Given the description of an element on the screen output the (x, y) to click on. 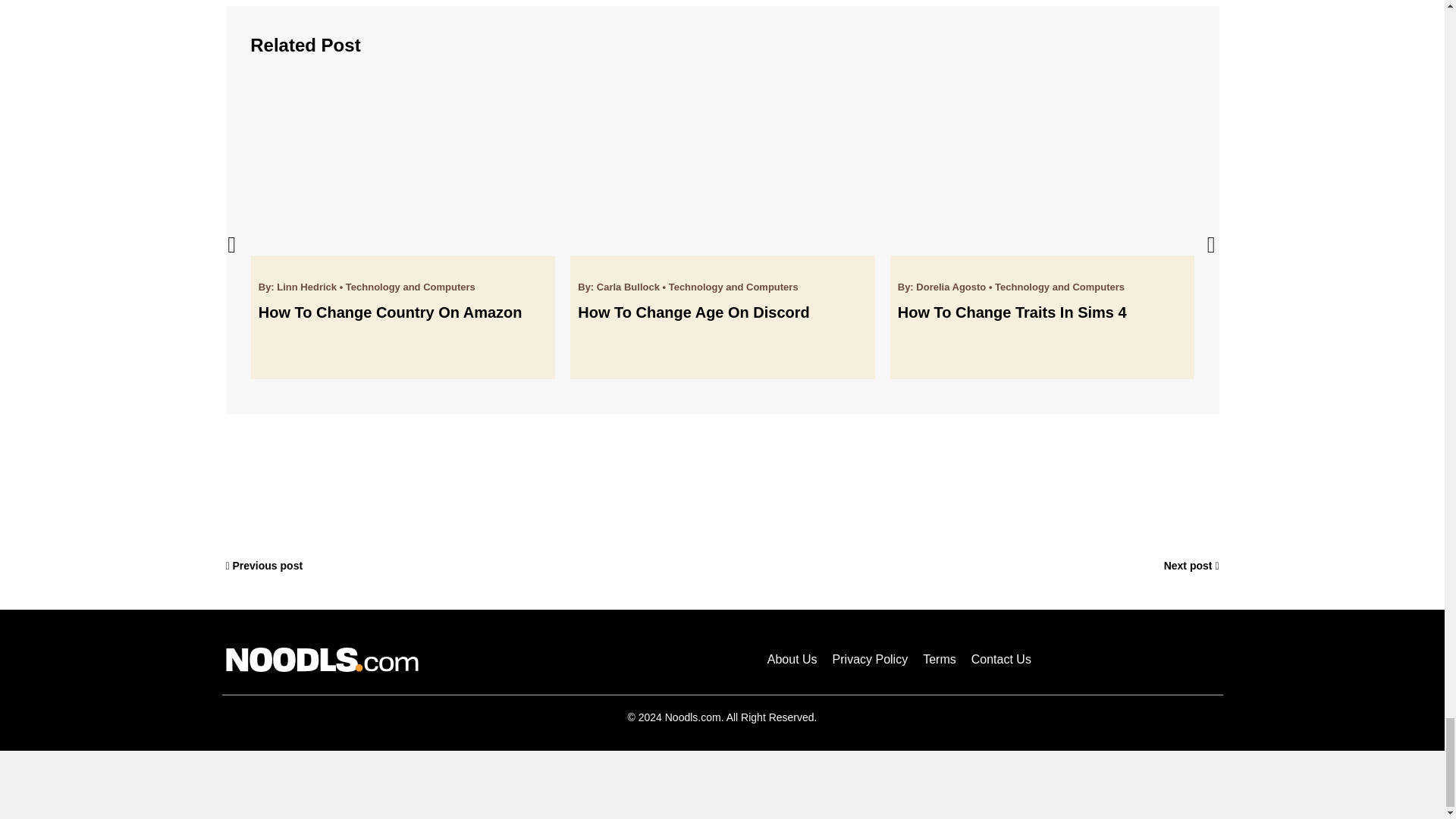
Noodls (322, 659)
